Given the description of an element on the screen output the (x, y) to click on. 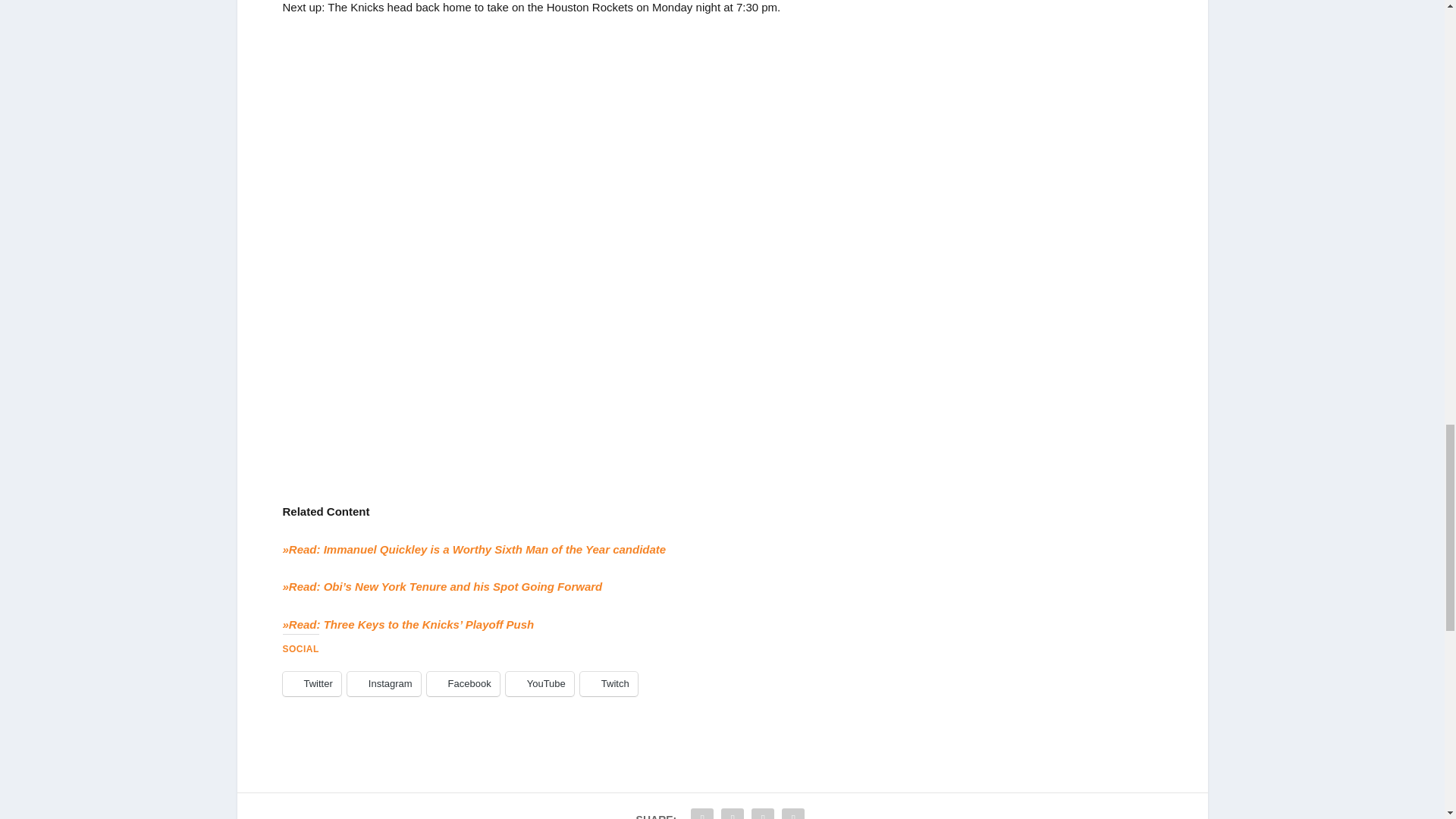
Click to share on Facebook (462, 683)
Twitch (608, 683)
Click to share on Twitter (311, 683)
Twitter (311, 683)
Click to share on YouTube (539, 683)
Click to share on Instagram (383, 683)
Click to share on Twitch (608, 683)
Instagram (383, 683)
YouTube (539, 683)
